Given the description of an element on the screen output the (x, y) to click on. 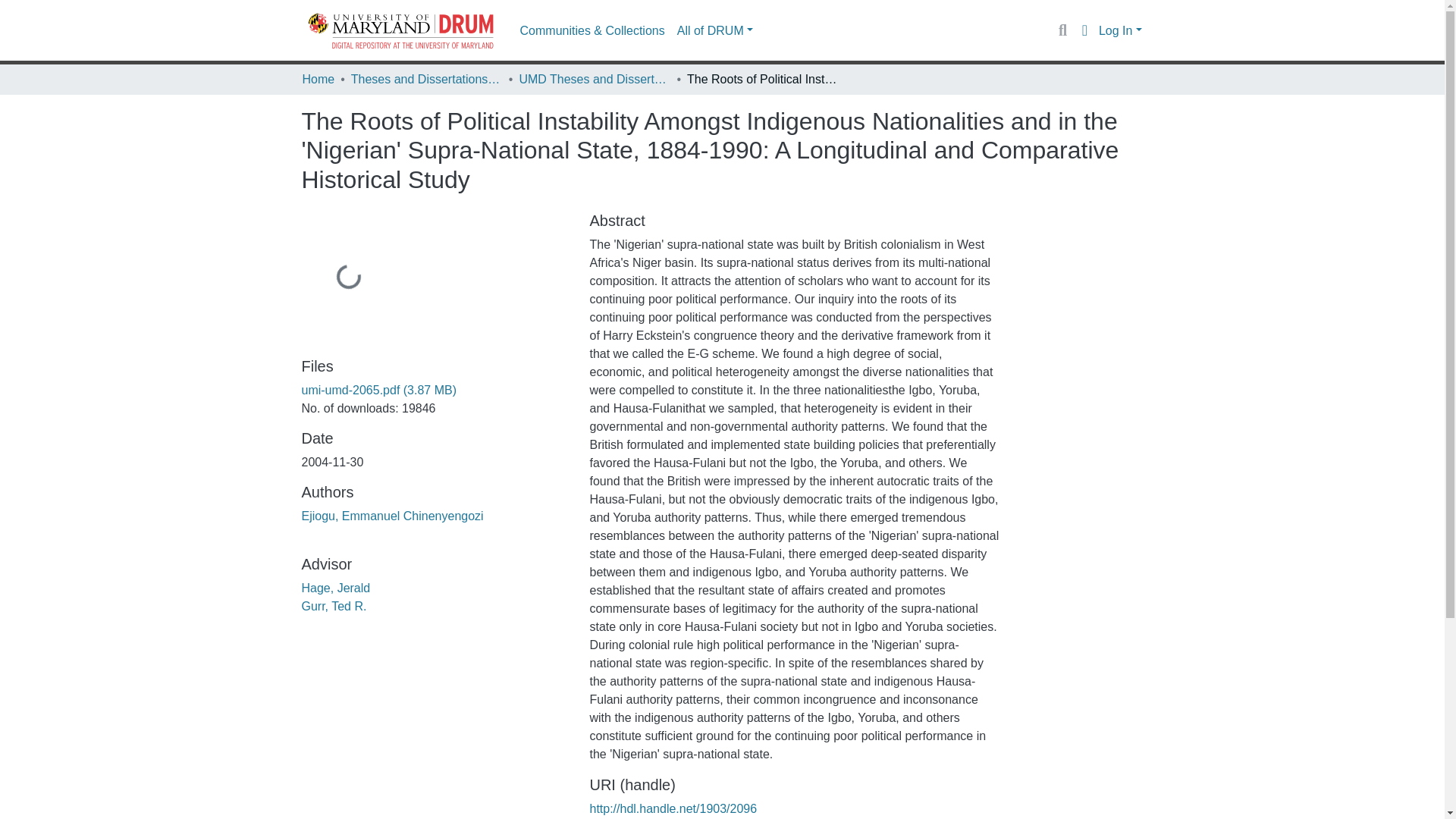
Home (317, 79)
Theses and Dissertations from UMD (426, 79)
Log In (1119, 30)
All of DRUM (714, 30)
Hage, Jerald (336, 587)
Search (1061, 30)
Language switch (1084, 30)
Gurr, Ted R. (333, 605)
Ejiogu, Emmanuel Chinenyengozi (392, 515)
UMD Theses and Dissertations (593, 79)
